Given the description of an element on the screen output the (x, y) to click on. 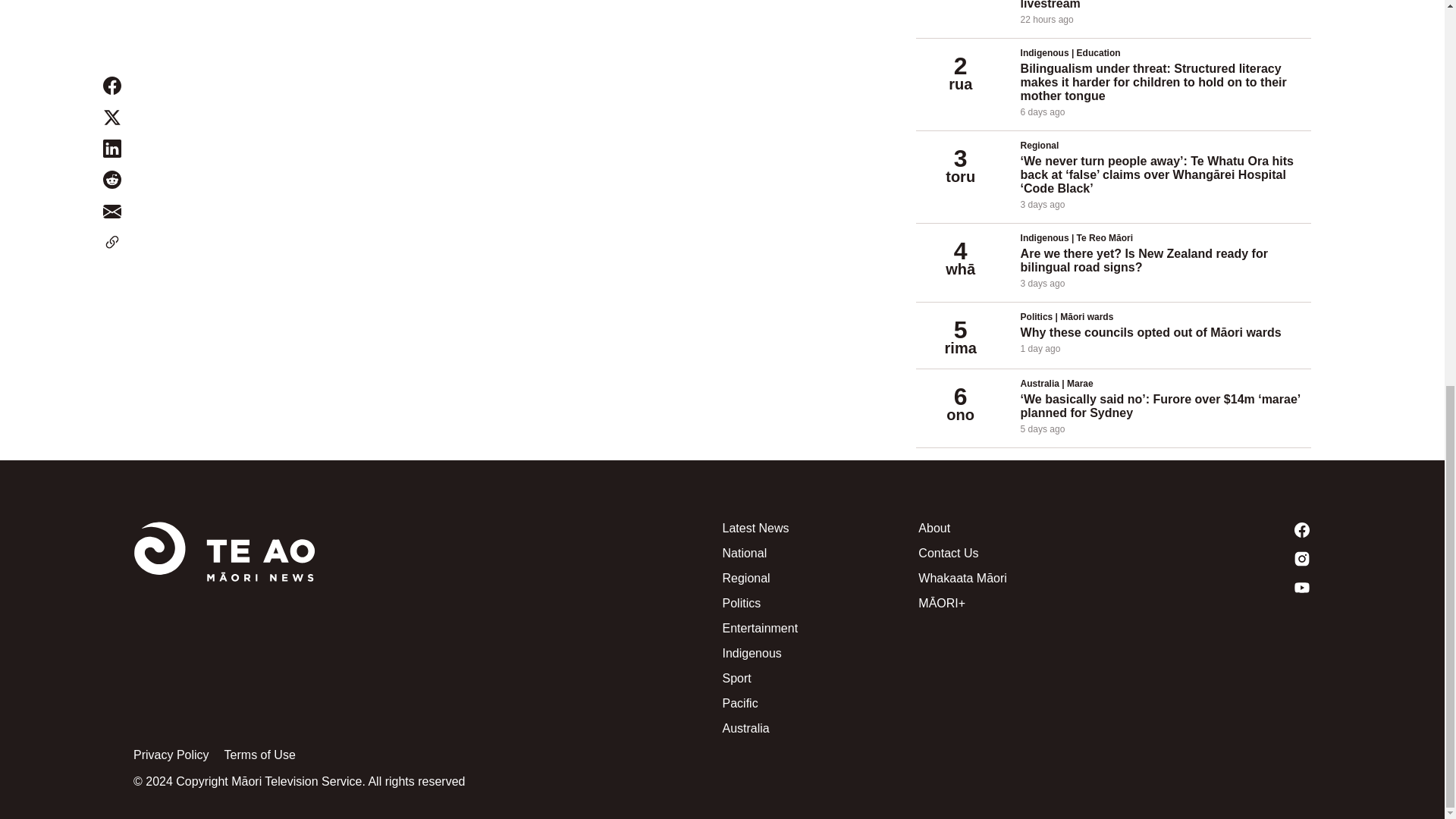
Facebook (1213, 529)
Instagram (1213, 558)
Youtube (1213, 587)
